Given the description of an element on the screen output the (x, y) to click on. 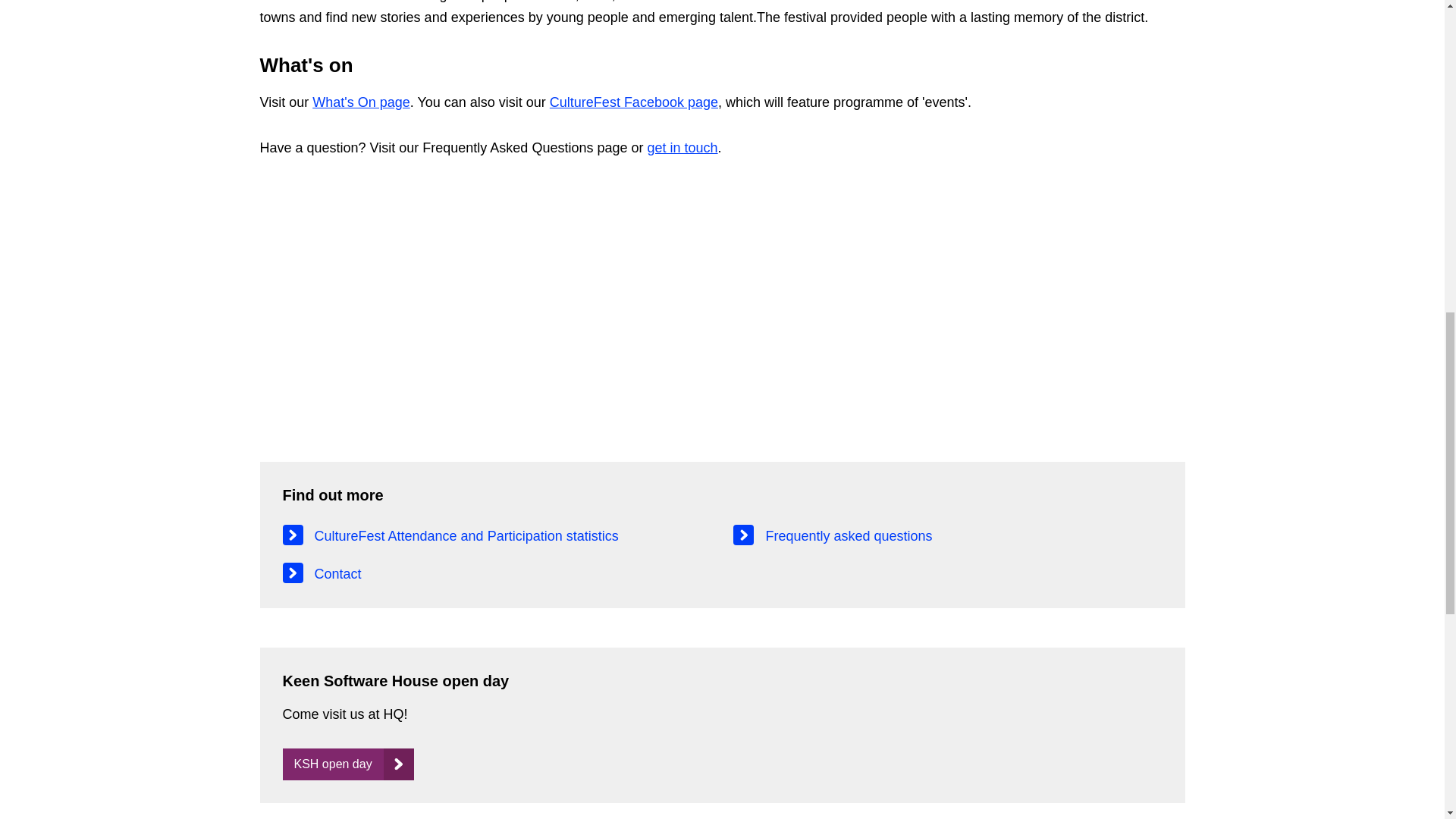
CultureFest Facebook page (633, 102)
Frequently asked questions (947, 535)
YouTube video player (471, 300)
KSH open day (347, 764)
CultureFest Attendance and Participation statistics (496, 535)
Contact (496, 573)
What's On page (361, 102)
get in touch (681, 147)
